Given the description of an element on the screen output the (x, y) to click on. 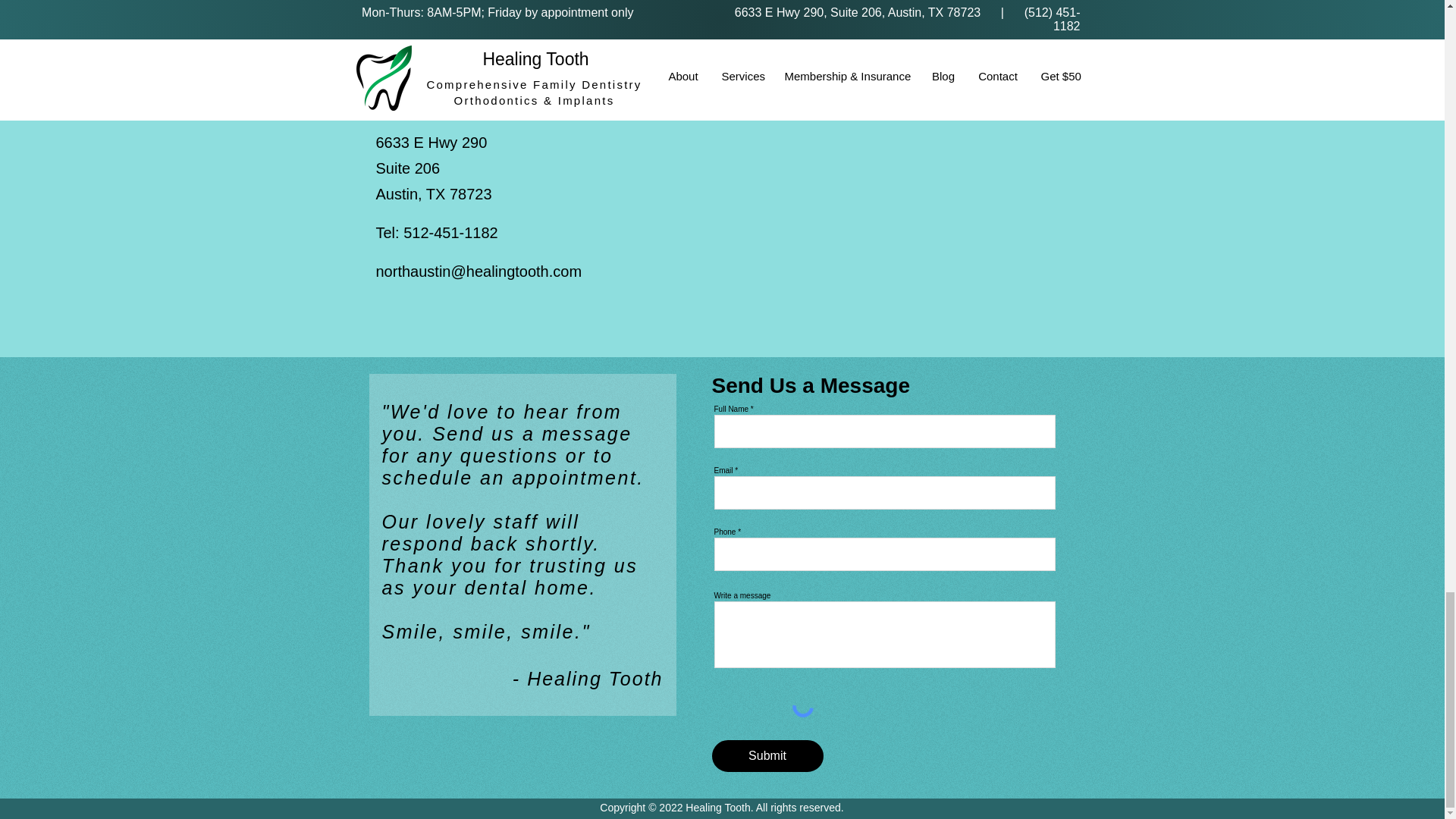
Submit (766, 756)
512-451-1182 (450, 232)
Post not marked as liked (804, 6)
Post not marked as liked (558, 6)
